Given the description of an element on the screen output the (x, y) to click on. 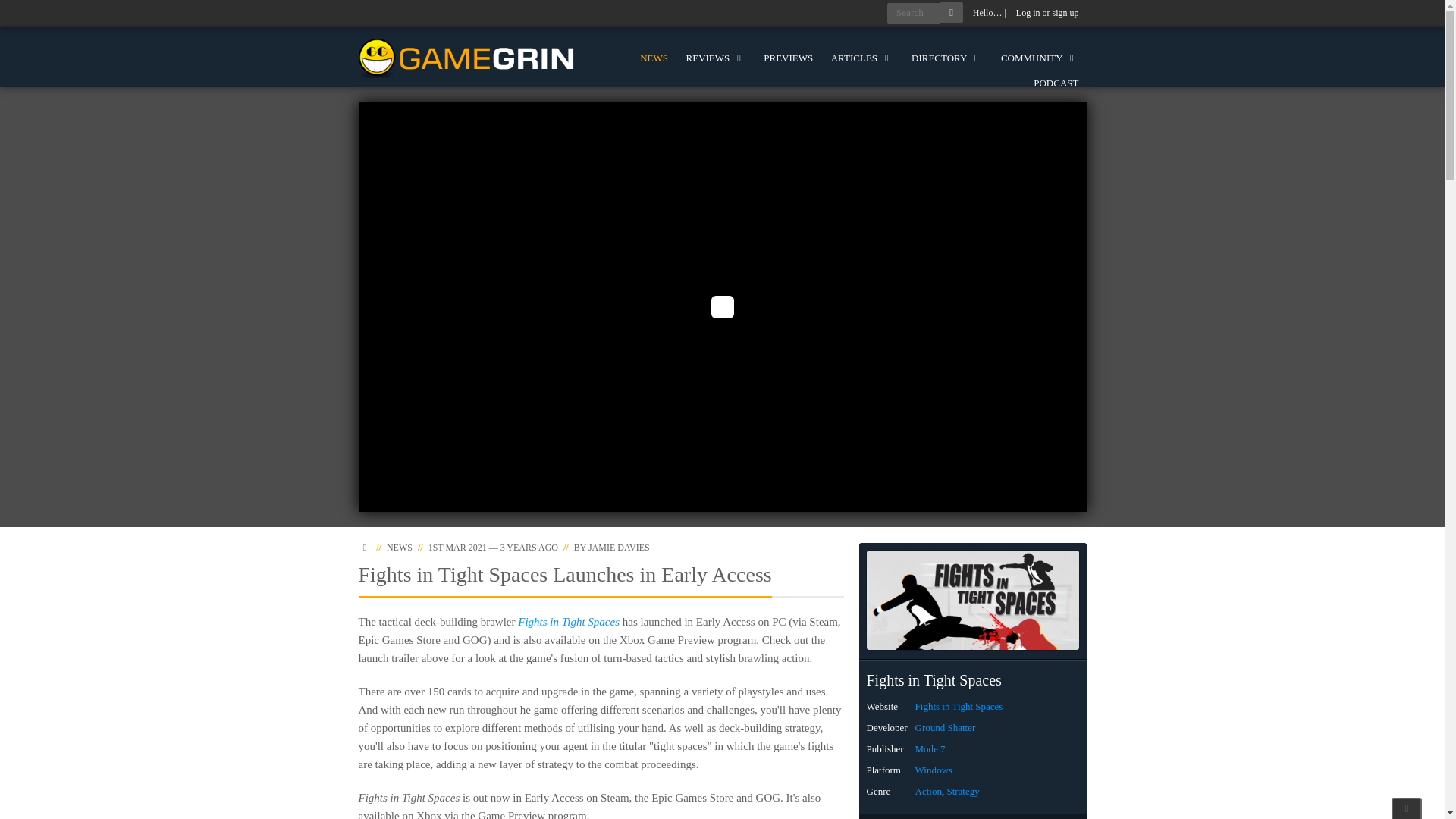
DIRECTORY (947, 57)
Log in or sign up (1047, 13)
JAMIE DAVIES (618, 547)
PREVIEWS (788, 57)
ARTICLES (862, 57)
NEWS (653, 57)
PODCAST (1056, 82)
Fights in Tight Spaces (569, 621)
COMMUNITY (1039, 57)
NEWS (399, 547)
